Given the description of an element on the screen output the (x, y) to click on. 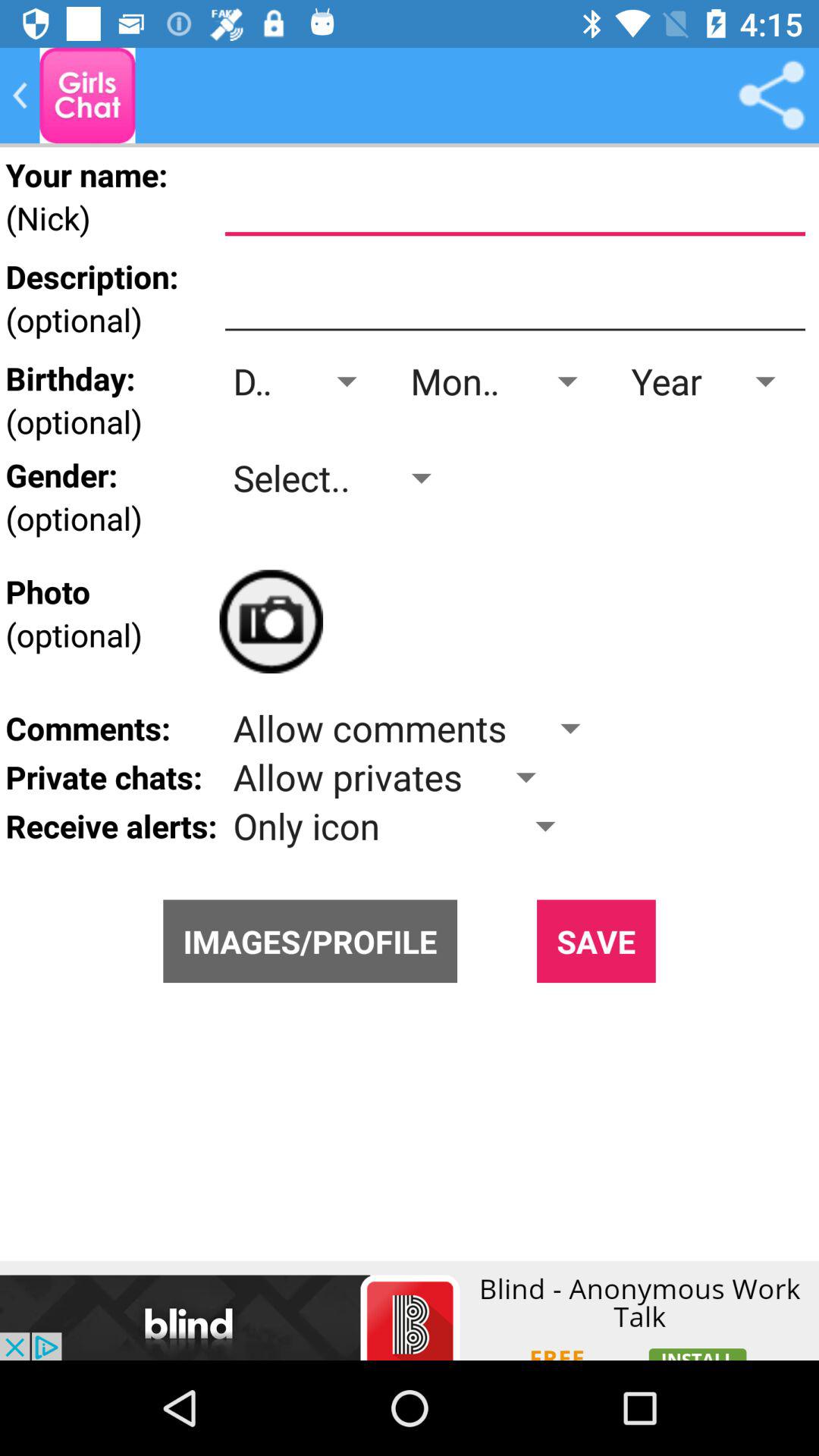
see advertisement (409, 1310)
